Given the description of an element on the screen output the (x, y) to click on. 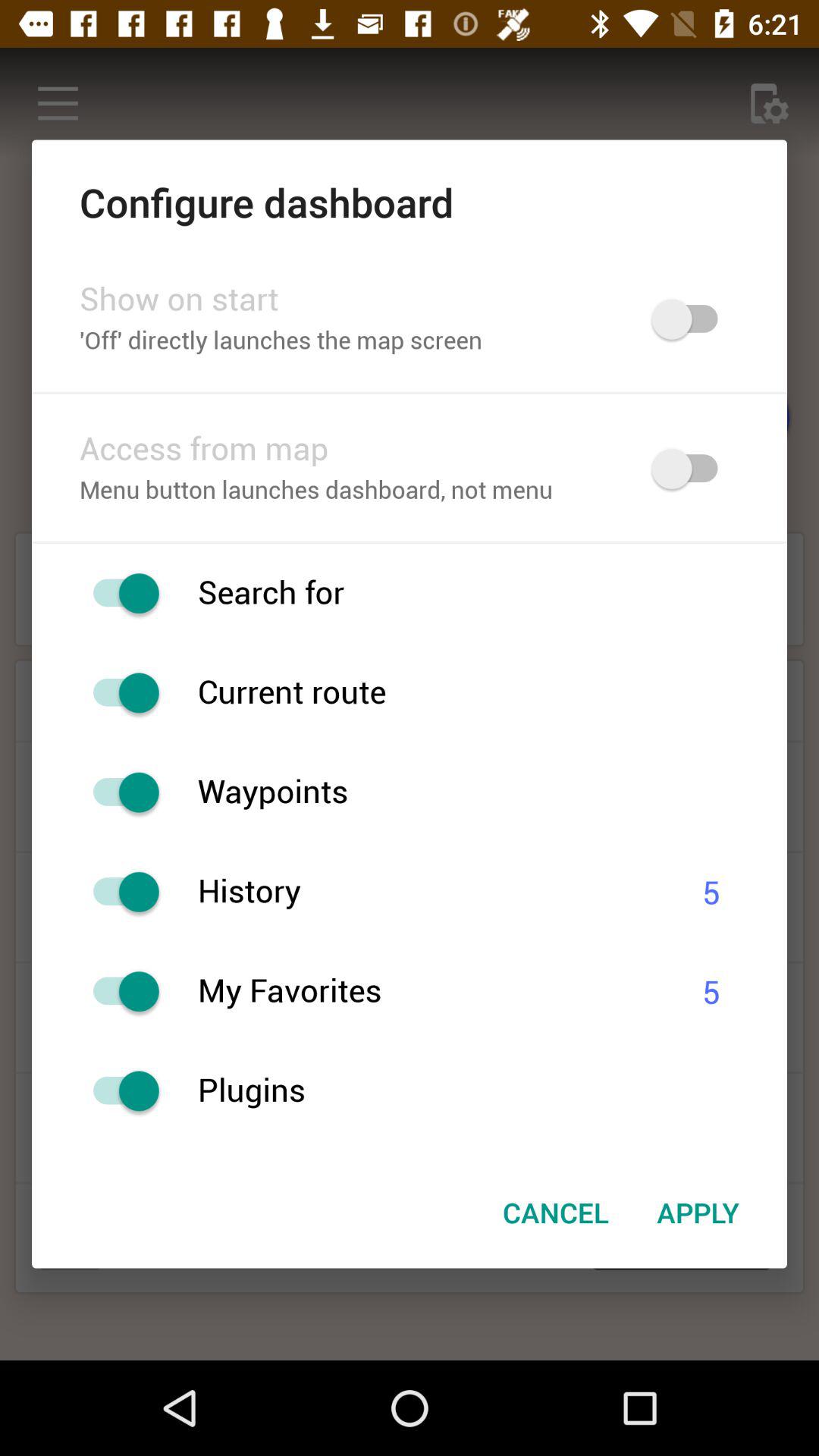
click item above the waypoints (492, 692)
